Given the description of an element on the screen output the (x, y) to click on. 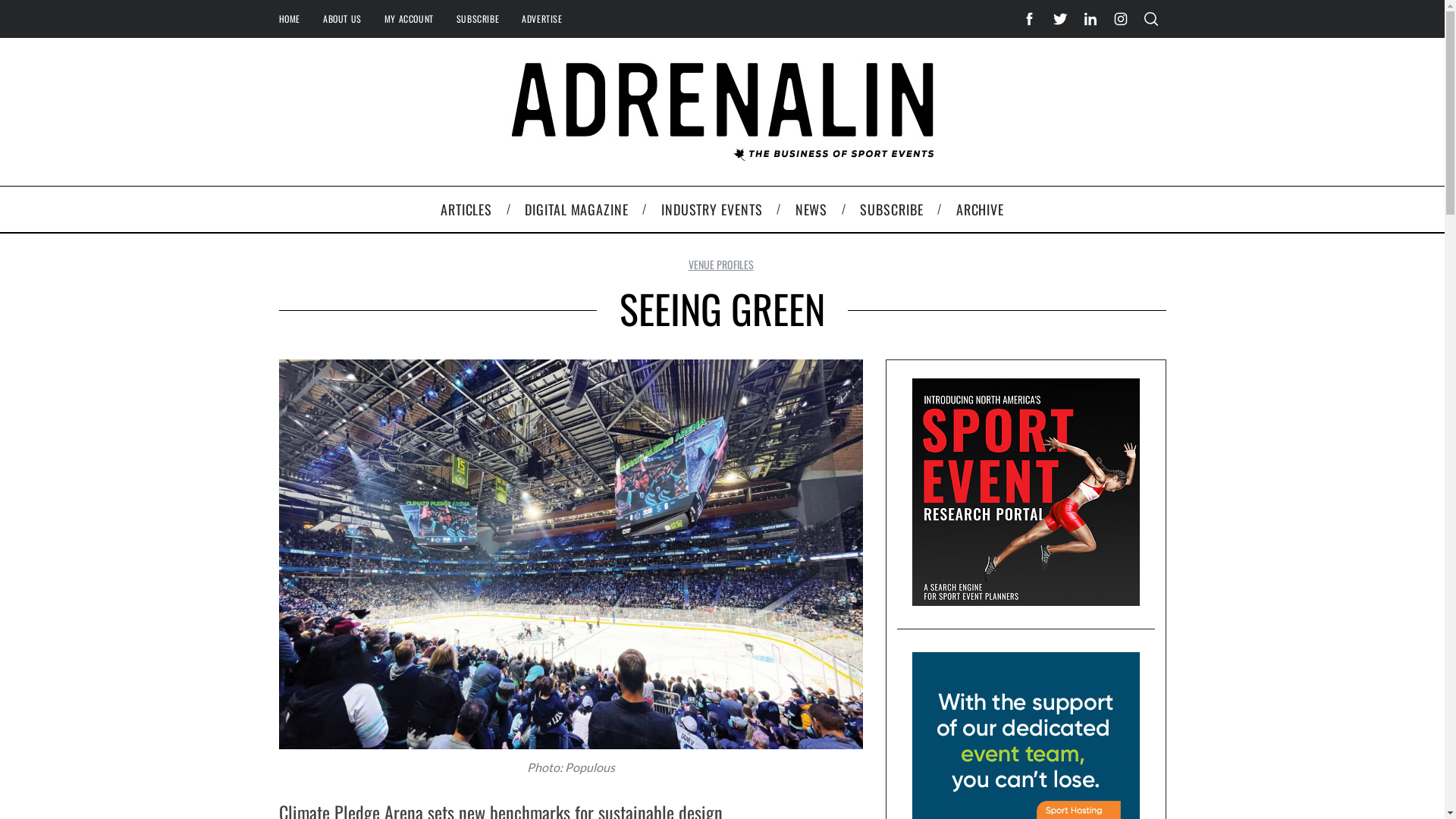
ABOUT US Element type: text (342, 18)
ARCHIVE Element type: text (979, 209)
DIGITAL MAGAZINE Element type: text (576, 209)
VENUE PROFILES Element type: text (720, 264)
ADVERTISE Element type: text (541, 18)
NEWS Element type: text (811, 209)
INDUSTRY EVENTS Element type: text (711, 209)
HOME Element type: text (288, 18)
ARTICLES Element type: text (465, 209)
MY ACCOUNT Element type: text (409, 18)
SUBSCRIBE Element type: text (477, 18)
SUBSCRIBE Element type: text (891, 209)
